Given the description of an element on the screen output the (x, y) to click on. 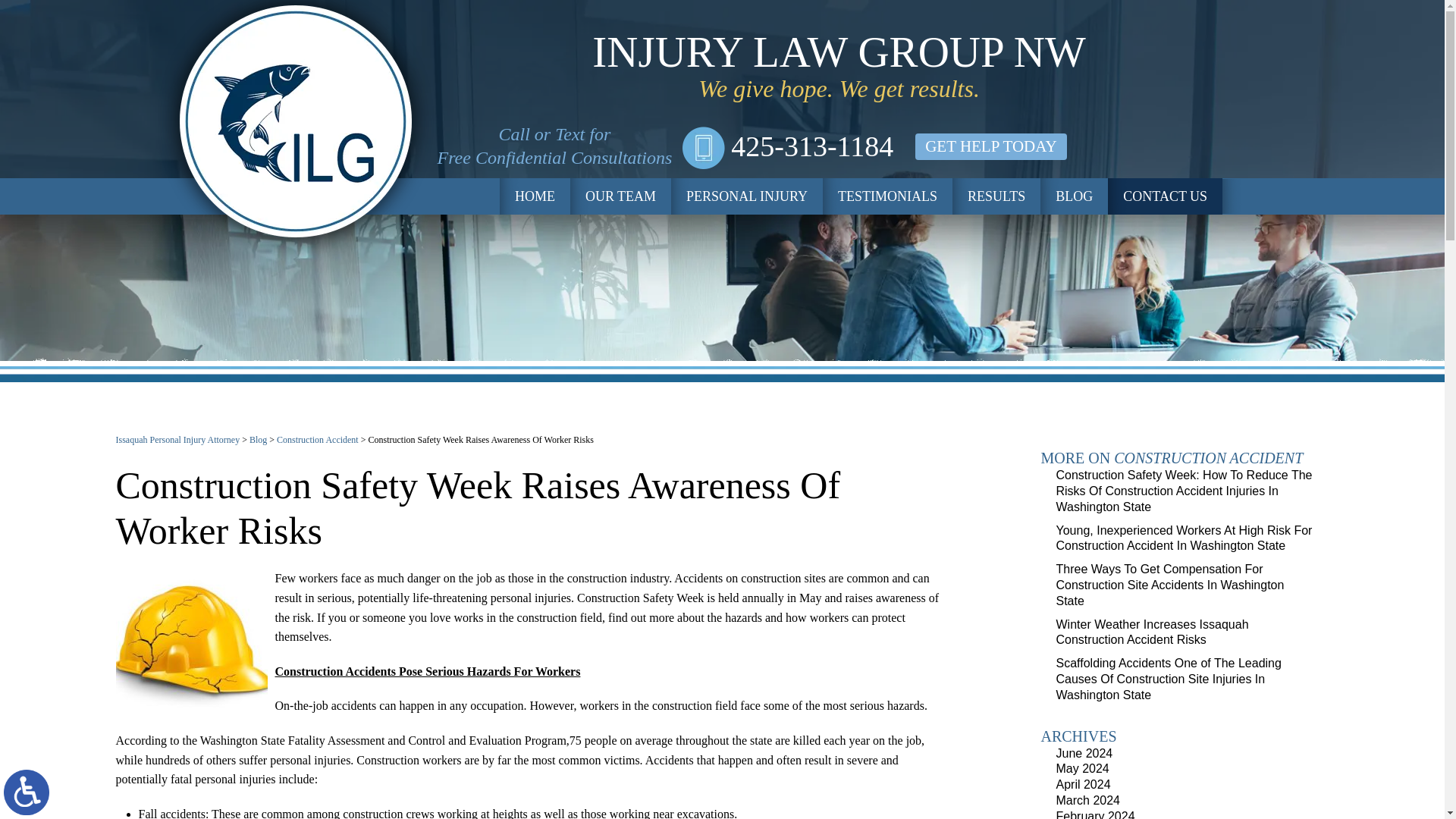
PERSONAL INJURY (746, 196)
Construction Accident (317, 439)
RESULTS (996, 196)
CONTACT US (1165, 196)
OUR TEAM (620, 196)
GET HELP TODAY (990, 146)
Issaquah Personal Injury Attorney (177, 439)
HOME (534, 196)
TESTIMONIALS (887, 196)
425-313-1184 (787, 146)
Blog (257, 439)
BLOG (1074, 196)
Switch to ADA Accessible Theme (26, 791)
CrackedConstructionHat (190, 647)
